Given the description of an element on the screen output the (x, y) to click on. 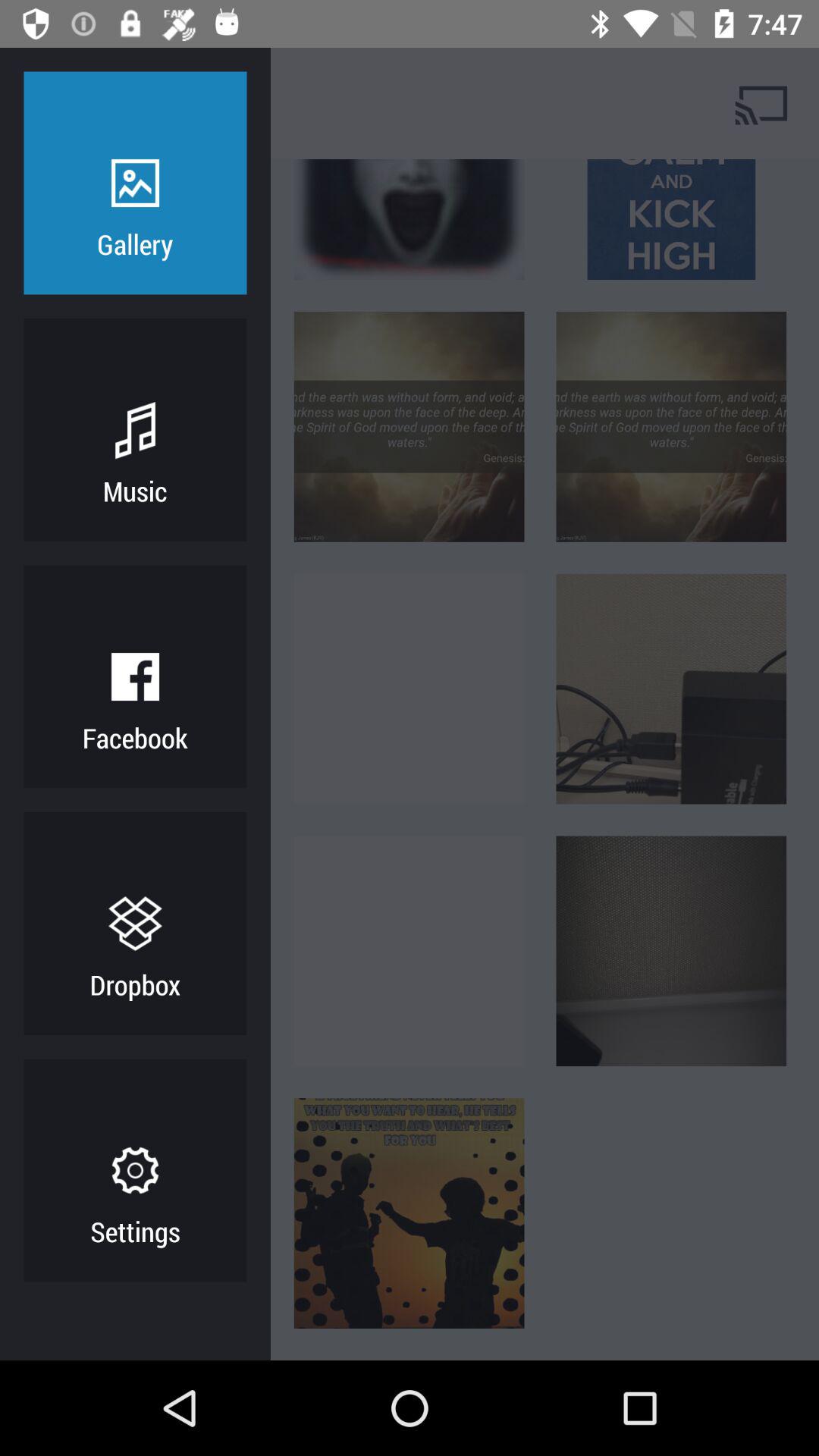
cast (763, 103)
